Given the description of an element on the screen output the (x, y) to click on. 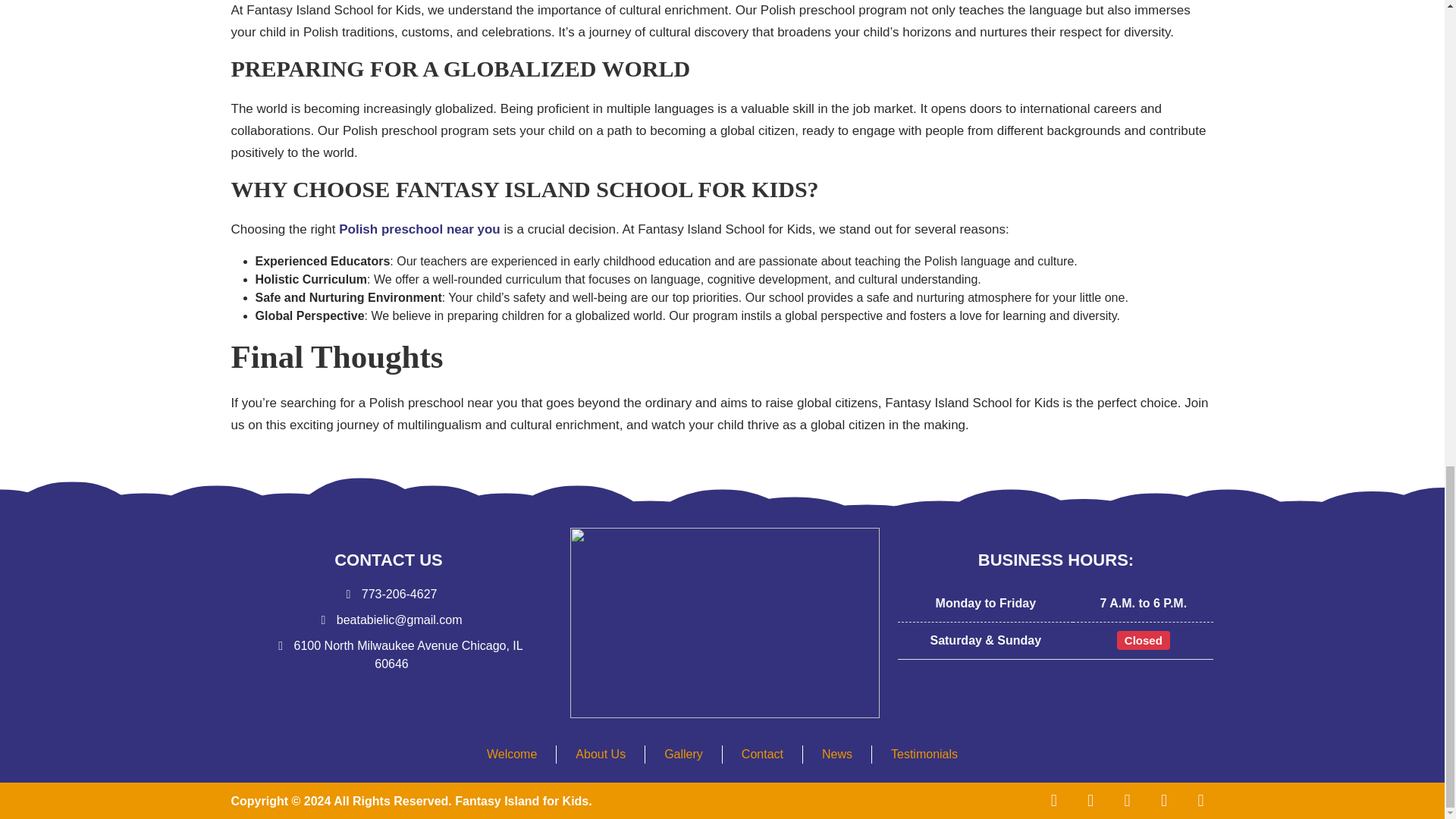
About Us (600, 753)
Contact (762, 753)
Polish preschool near you (419, 228)
6100 North Milwaukee Avenue Chicago, IL 60646 (400, 654)
773-206-4627 (392, 594)
Testimonials (924, 753)
News (836, 753)
Gallery (683, 753)
Welcome (511, 753)
